Given the description of an element on the screen output the (x, y) to click on. 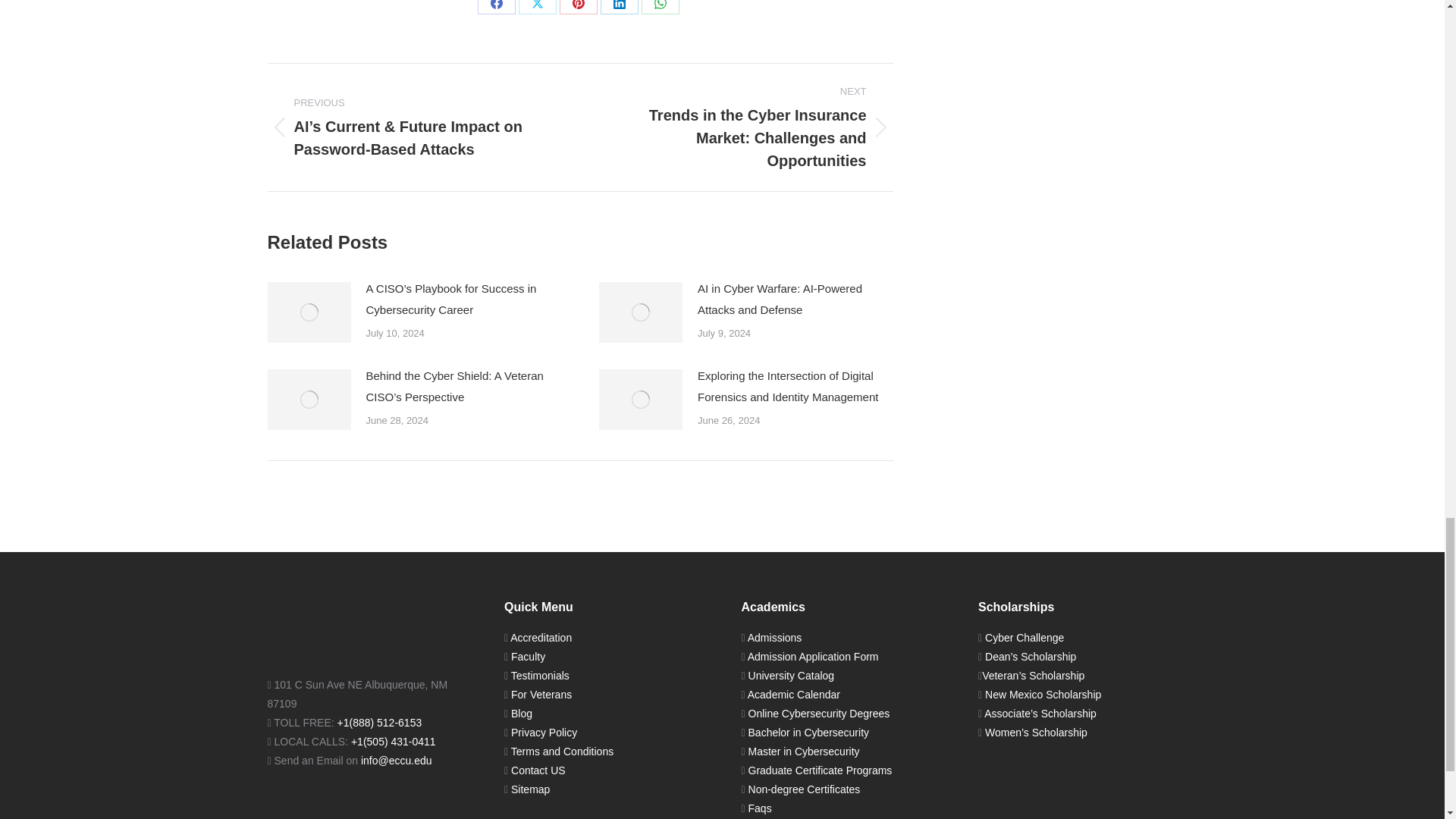
LinkedIn (619, 7)
WhatsApp (660, 7)
Facebook (496, 7)
X (537, 7)
Pinterest (577, 7)
